Given the description of an element on the screen output the (x, y) to click on. 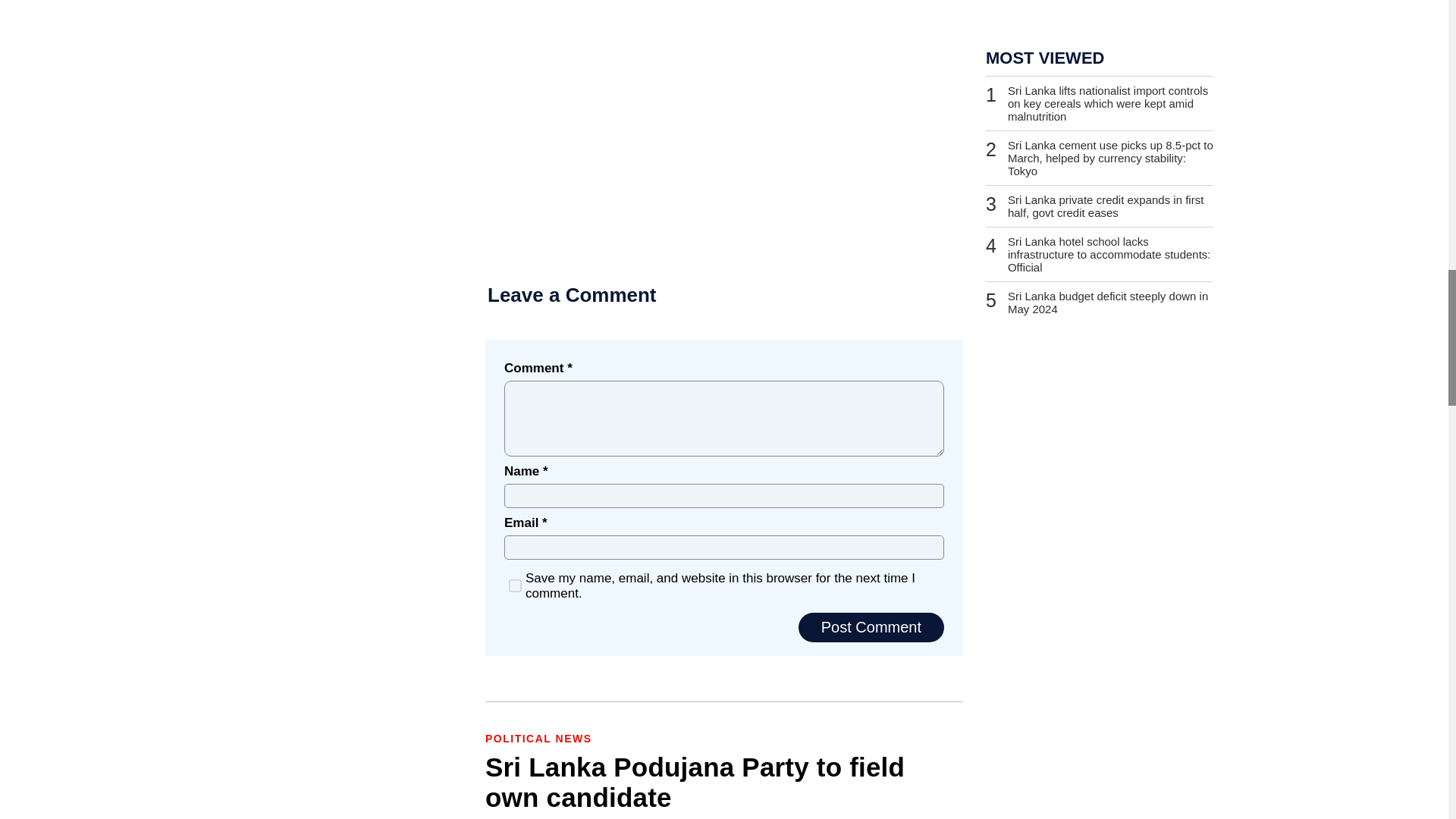
Post Comment (870, 627)
